Given the description of an element on the screen output the (x, y) to click on. 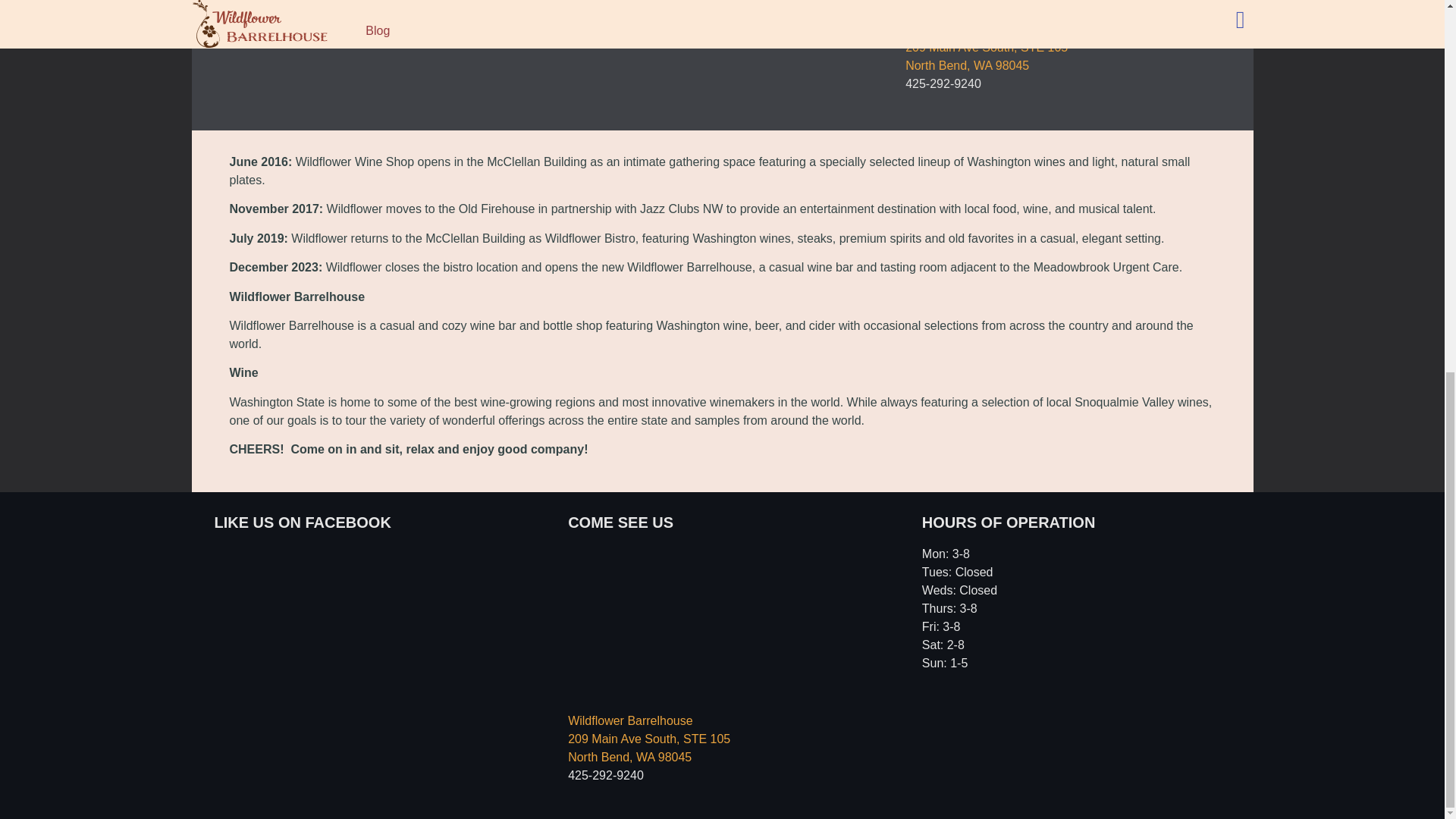
Wildflower Barrelhouse (721, 620)
Wildflower Barrelhouse (1065, 2)
